Given the description of an element on the screen output the (x, y) to click on. 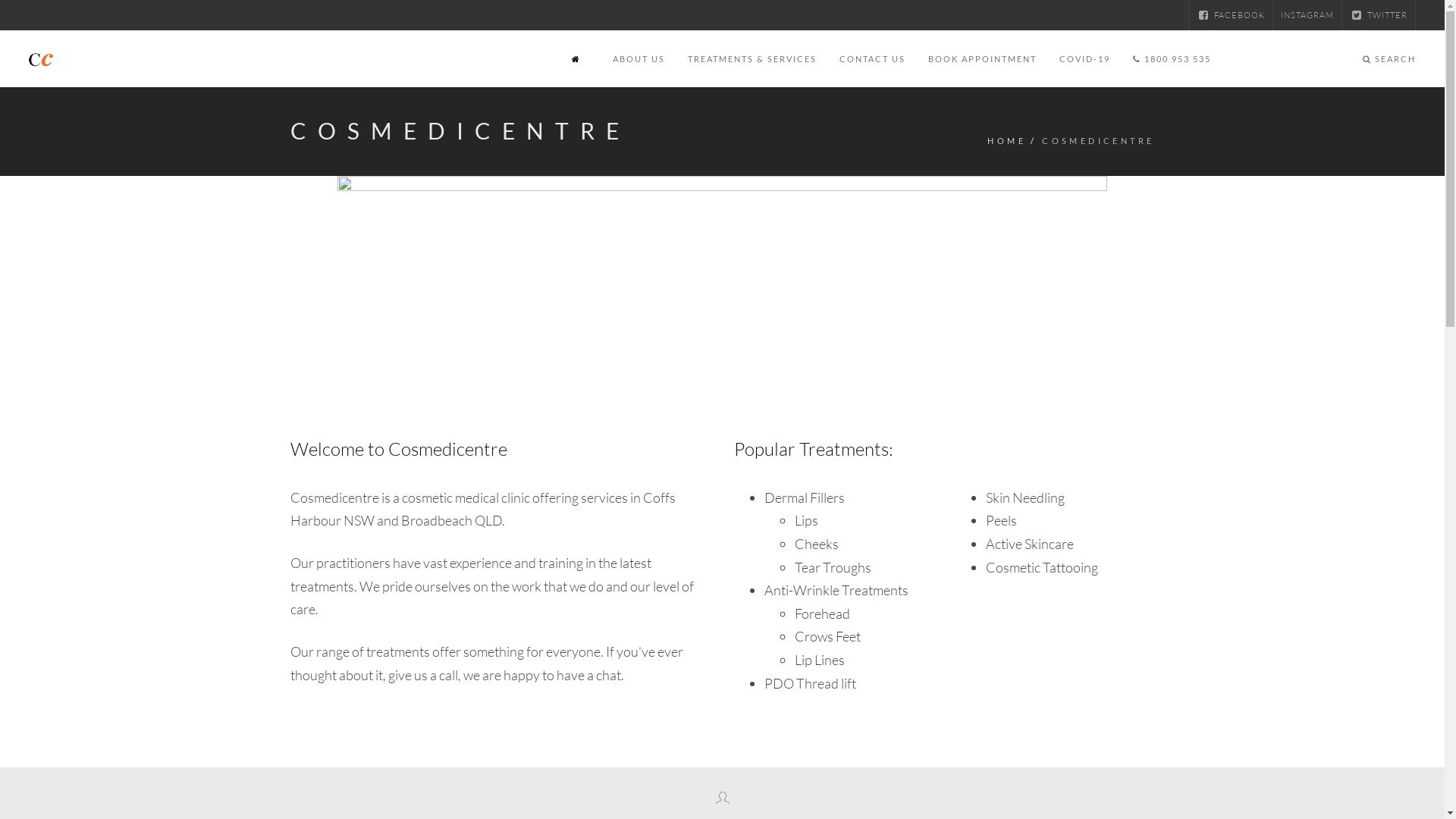
  Element type: text (576, 58)
FACEBOOK Element type: text (1230, 15)
1800 953 535 Element type: text (1171, 58)
Cosmedicentre Element type: hover (40, 58)
HOME Element type: text (1006, 141)
CONTACT US Element type: text (872, 58)
ABOUT US Element type: text (638, 58)
TREATMENTS & SERVICES Element type: text (751, 58)
SEARCH Element type: text (1388, 58)
INSTAGRAM Element type: text (1307, 15)
TWITTER Element type: text (1378, 15)
BOOK APPOINTMENT Element type: text (982, 58)
COVID-19 Element type: text (1084, 58)
